Given the description of an element on the screen output the (x, y) to click on. 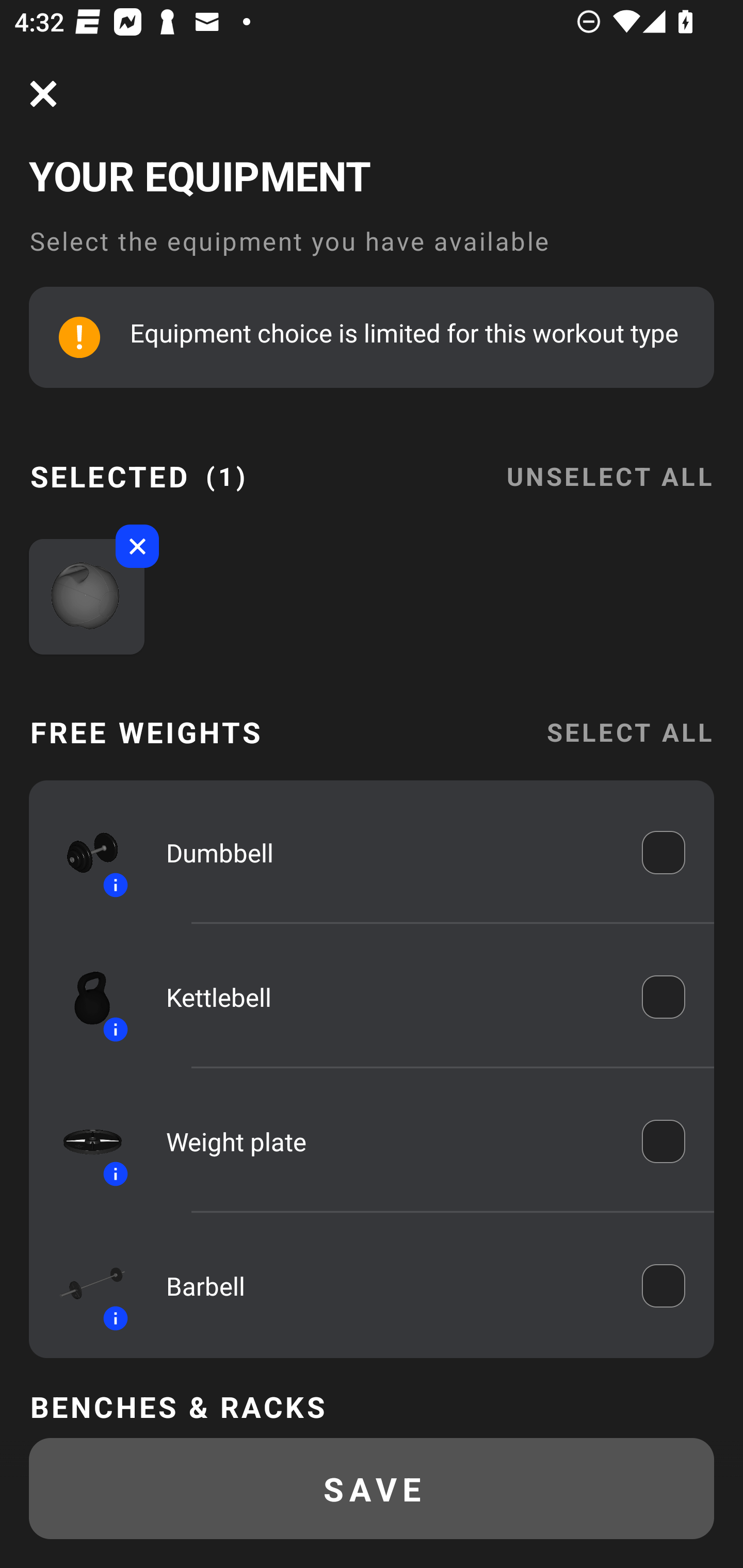
Navigation icon (43, 93)
UNSELECT ALL (609, 463)
SELECT ALL (629, 731)
Equipment icon Information icon (82, 852)
Dumbbell (389, 852)
Equipment icon Information icon (82, 996)
Kettlebell (389, 996)
Equipment icon Information icon (82, 1140)
Weight plate (389, 1141)
Equipment icon Information icon (82, 1286)
Barbell (389, 1285)
SAVE (371, 1488)
